Given the description of an element on the screen output the (x, y) to click on. 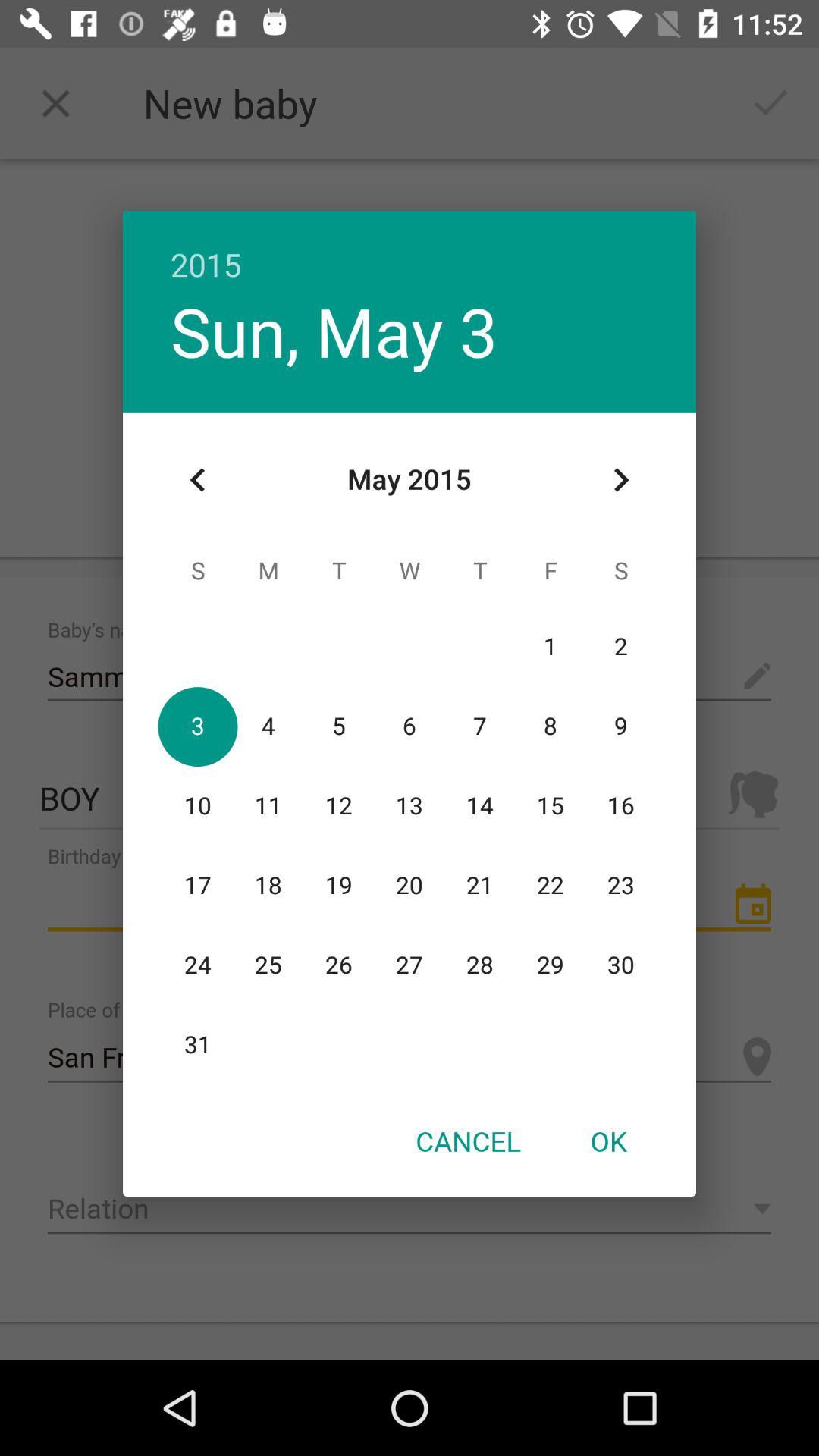
choose icon above the ok (620, 479)
